Given the description of an element on the screen output the (x, y) to click on. 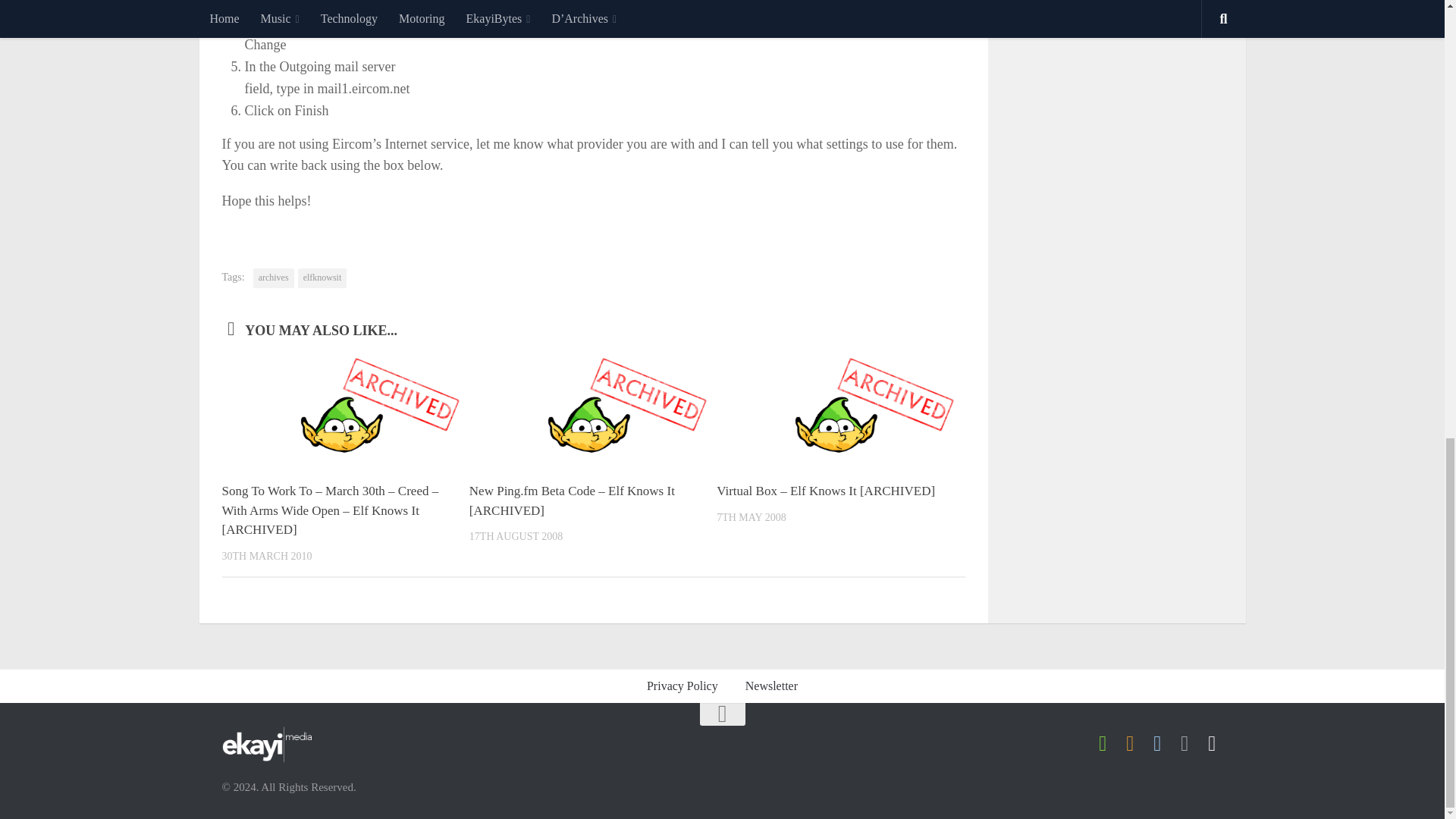
archives (273, 278)
Follow me on Spotify (1102, 743)
